Given the description of an element on the screen output the (x, y) to click on. 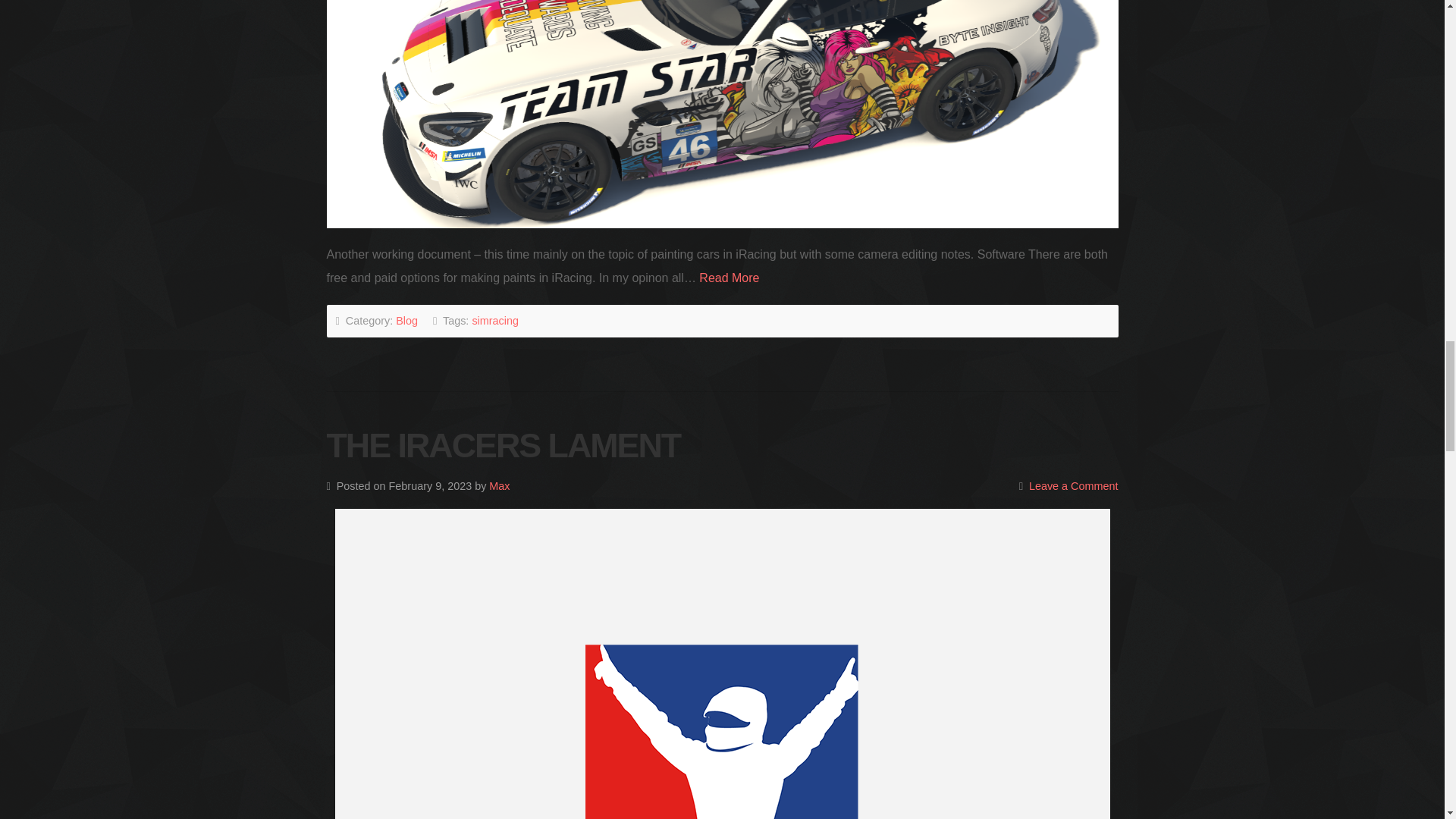
Read More (728, 277)
Posts by Max (499, 485)
THE IRACERS LAMENT (502, 444)
Blog (406, 320)
Max (499, 485)
simracing (494, 320)
Leave a Comment (1073, 485)
